Given the description of an element on the screen output the (x, y) to click on. 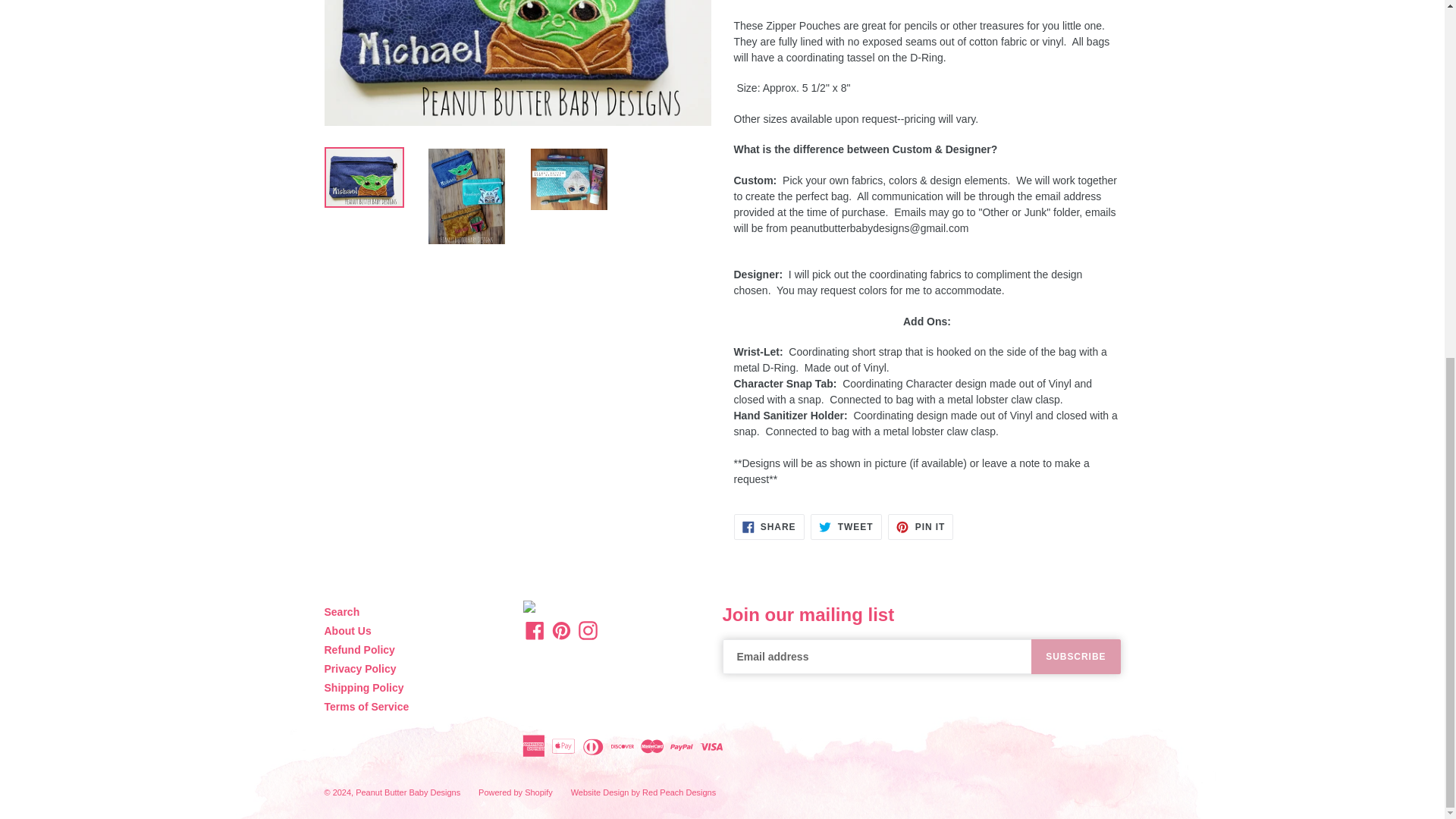
Tweet on Twitter (845, 526)
Pin on Pinterest (920, 526)
Peanut Butter Baby Designs on Pinterest (561, 629)
Share on Facebook (769, 526)
Peanut Butter Baby Designs on Instagram (587, 629)
Peanut Butter Baby Designs on Facebook (534, 629)
